Given the description of an element on the screen output the (x, y) to click on. 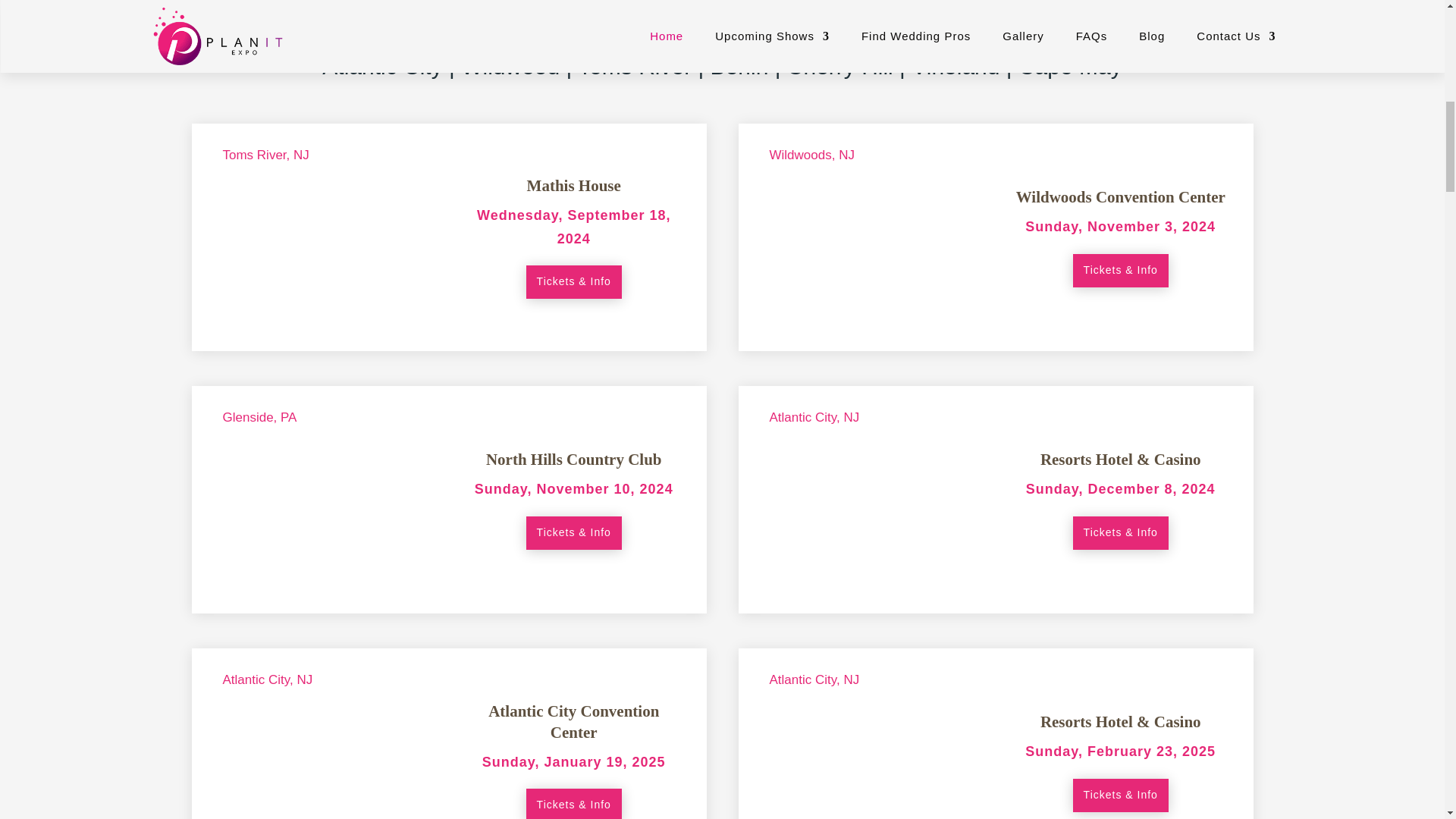
Glenside, PA (259, 417)
Atlantic City, NJ (267, 679)
Atlantic City, NJ (814, 679)
Toms River, NJ (265, 155)
Atlantic City, NJ (814, 417)
Wildwoods, NJ (812, 155)
